Given the description of an element on the screen output the (x, y) to click on. 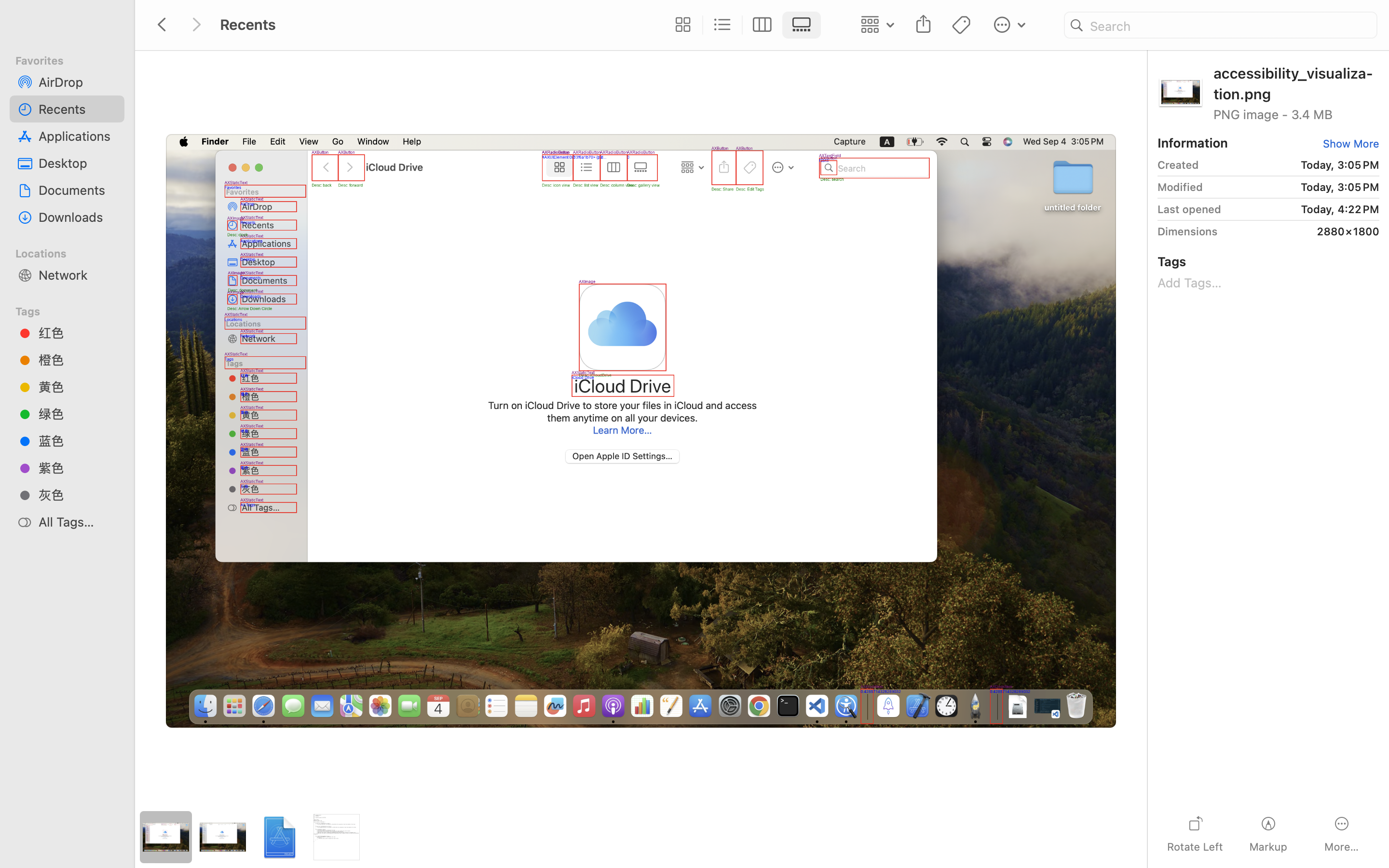
AirDrop Element type: AXStaticText (77, 81)
Favorites Element type: AXStaticText (72, 59)
Created Element type: AXStaticText (1177, 164)
All Tags… Element type: AXStaticText (77, 521)
红色 Element type: AXStaticText (77, 332)
